Given the description of an element on the screen output the (x, y) to click on. 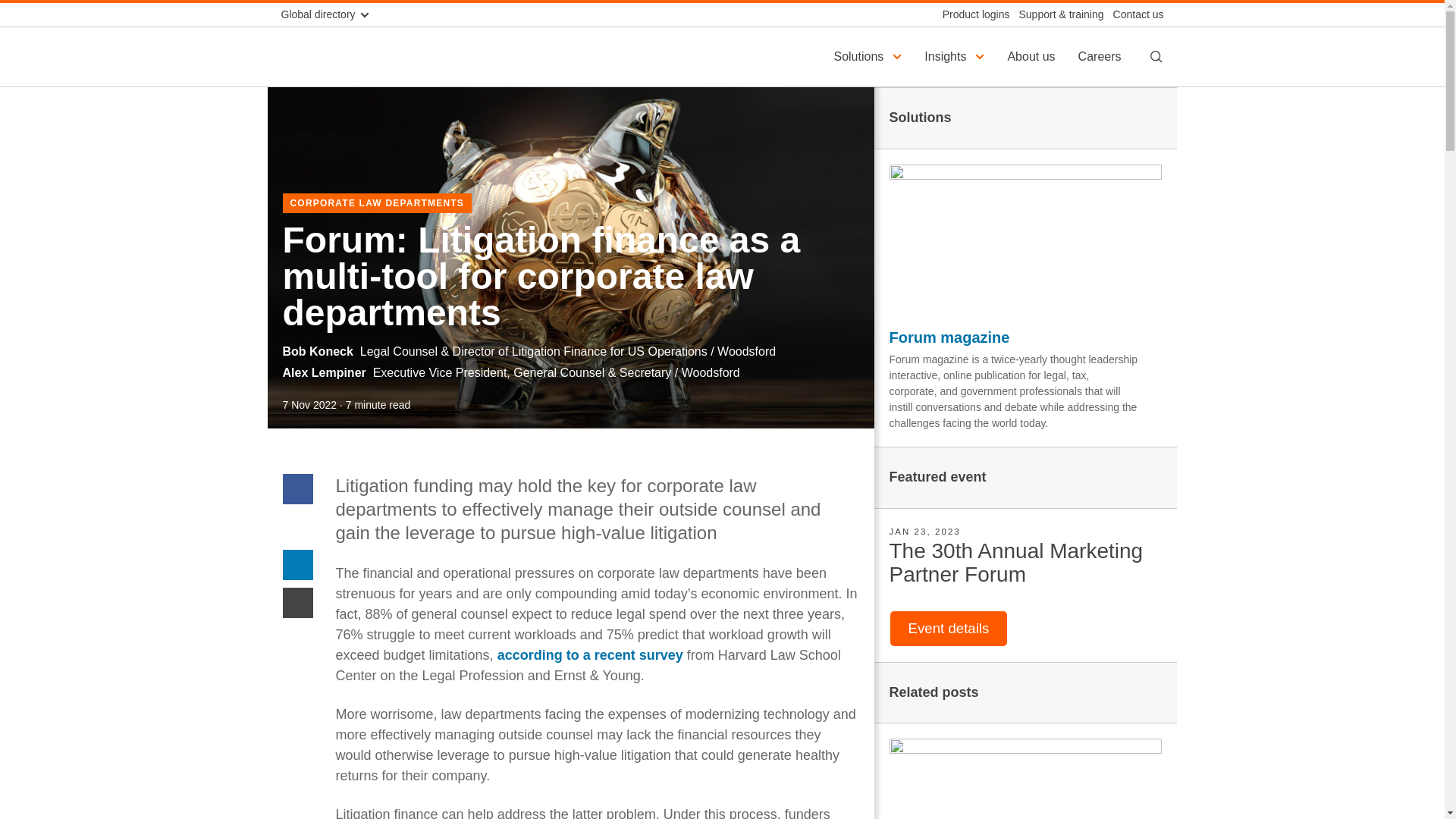
Solutions (869, 56)
Alex Lempiner (323, 372)
Careers (1101, 56)
Email (297, 601)
CORPORATE LAW DEPARTMENTS (376, 202)
Thomson Reuters (355, 56)
About us (1032, 56)
Global directory (331, 14)
Product logins (971, 14)
Contact us (1133, 14)
Facebook (297, 487)
Insights (956, 56)
Twitter (297, 525)
7 Nov 2022 (309, 404)
Bob Koneck (317, 350)
